Given the description of an element on the screen output the (x, y) to click on. 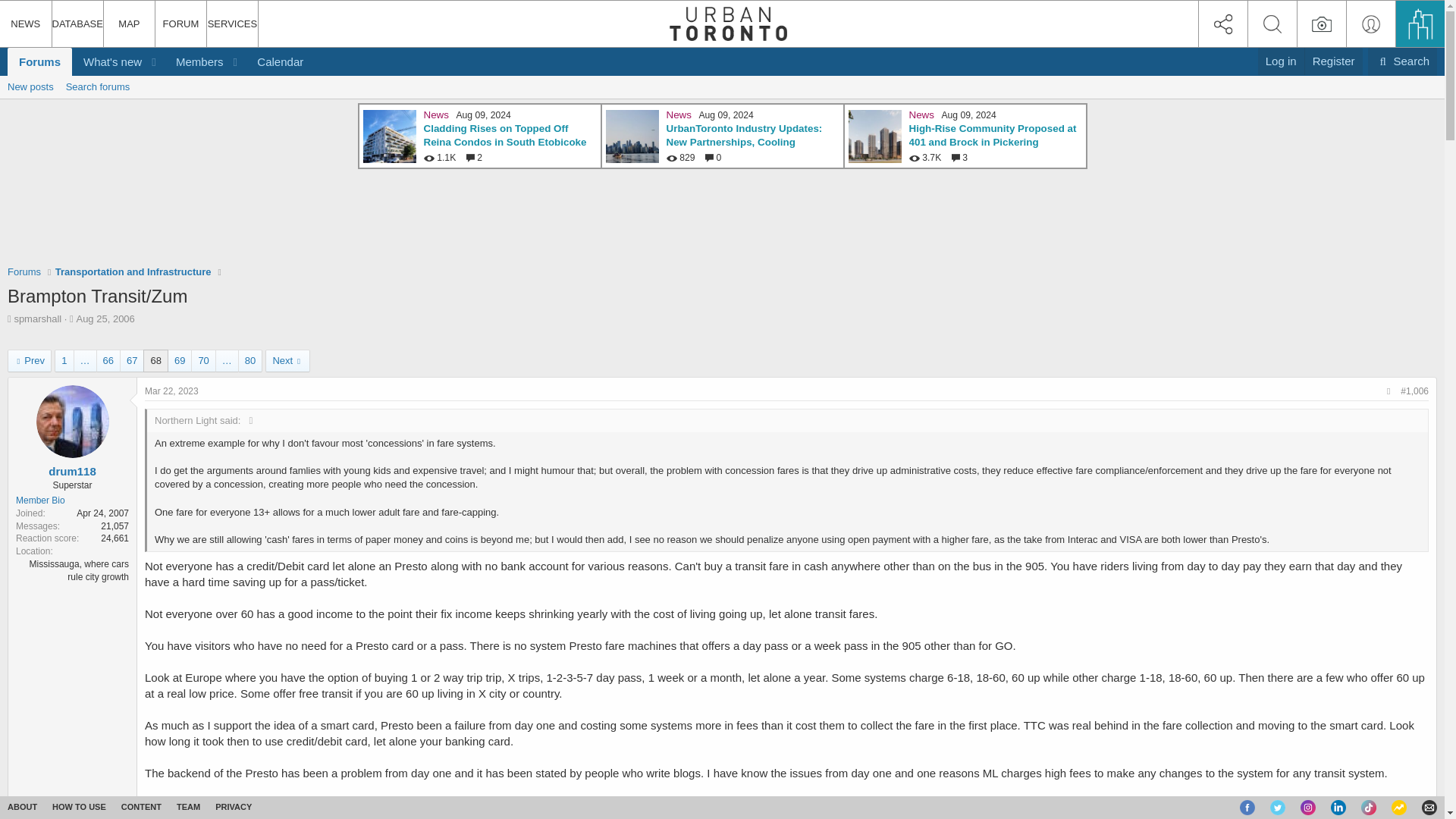
Mar 22, 2023 at 12:05 AM (171, 390)
High-Rise Community Proposed at 401 and Brock in Pickering (991, 135)
Aug 25, 2006 at 10:10 PM (104, 318)
What's new (106, 61)
New posts (30, 87)
Forums (23, 272)
Calendar (280, 61)
Cladding Rises on Topped Off Reina Condos in South Etobicoke (504, 135)
Search (1402, 61)
